Given the description of an element on the screen output the (x, y) to click on. 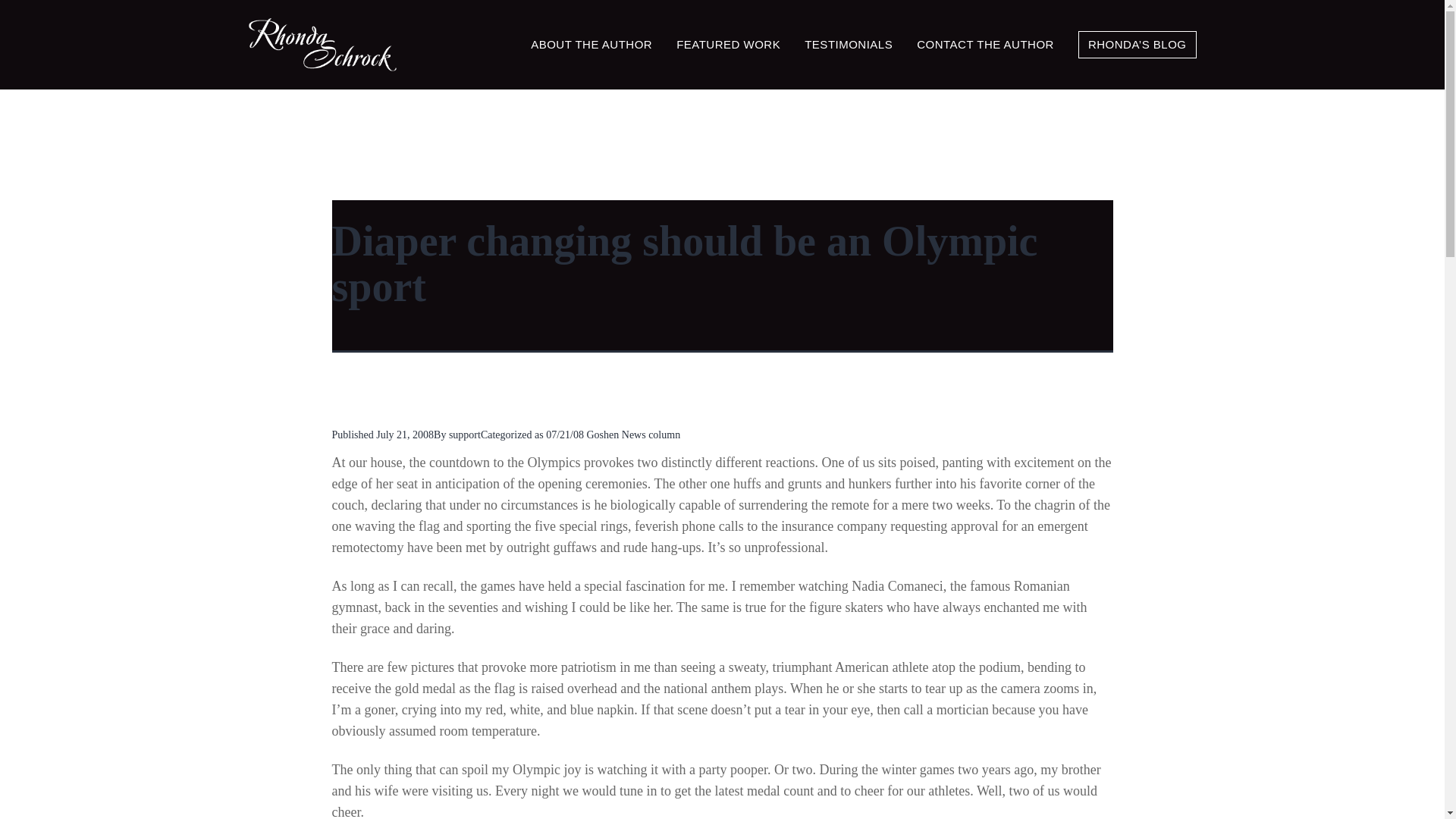
CONTACT THE AUTHOR (985, 45)
support (464, 434)
TESTIMONIALS (848, 45)
ABOUT THE AUTHOR (591, 45)
FEATURED WORK (728, 45)
